Given the description of an element on the screen output the (x, y) to click on. 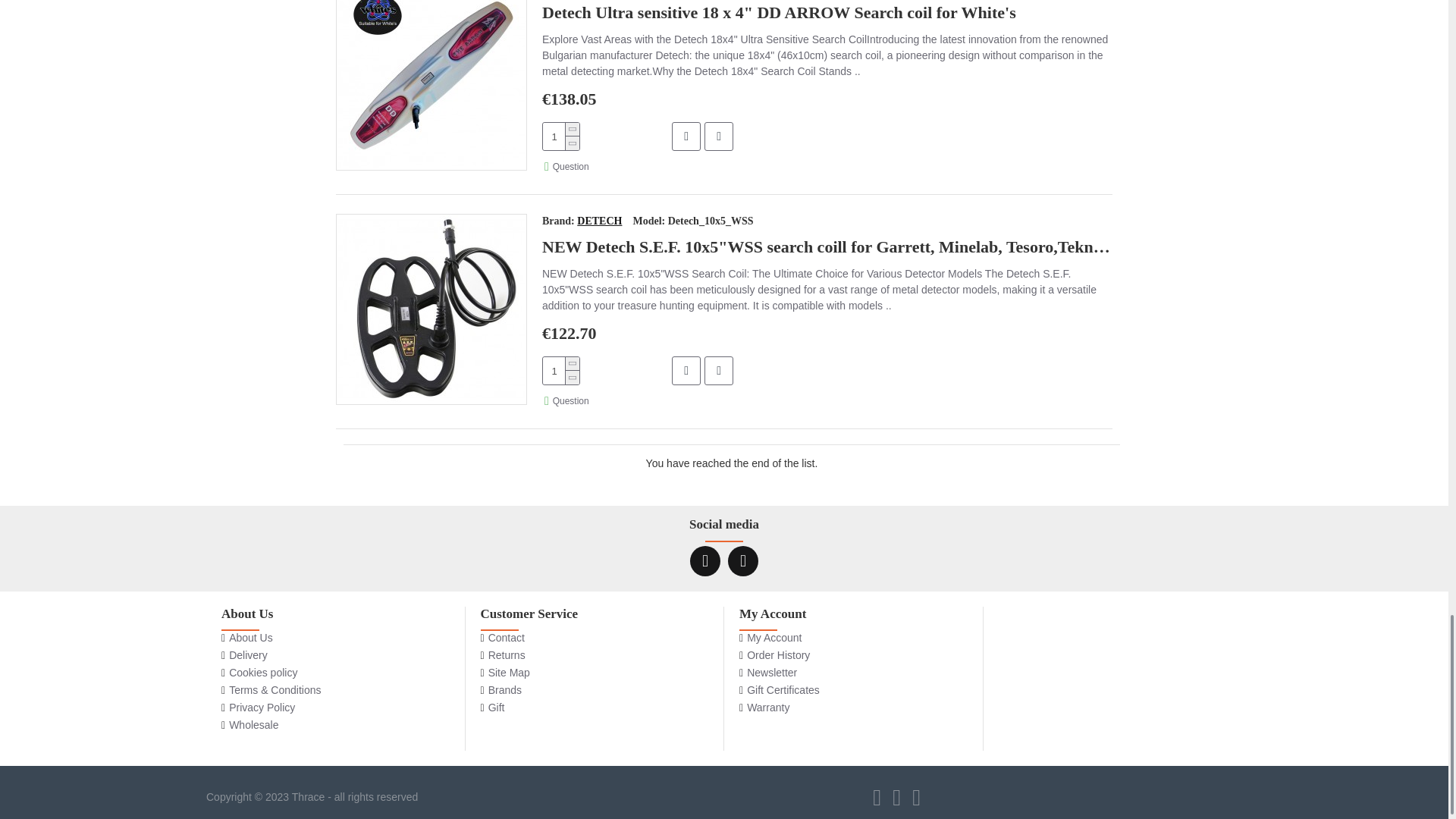
1 (561, 370)
1 (561, 135)
